Given the description of an element on the screen output the (x, y) to click on. 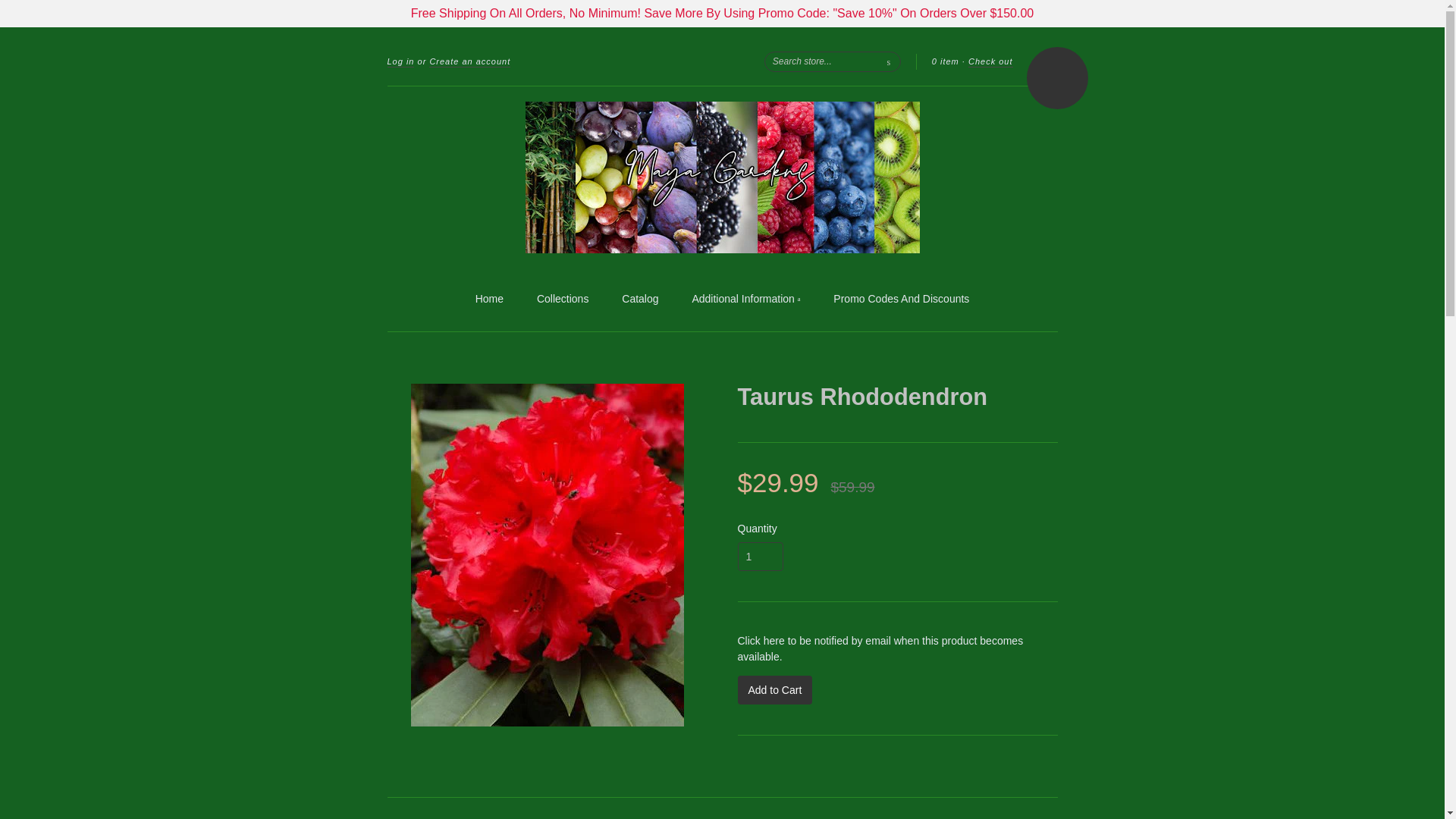
1 (759, 556)
Create an account (470, 61)
Home (489, 299)
Log in (400, 61)
Catalog (639, 299)
Search (888, 61)
Collections (562, 299)
Promo Codes And Discounts (900, 299)
Additional Information (745, 299)
